Given the description of an element on the screen output the (x, y) to click on. 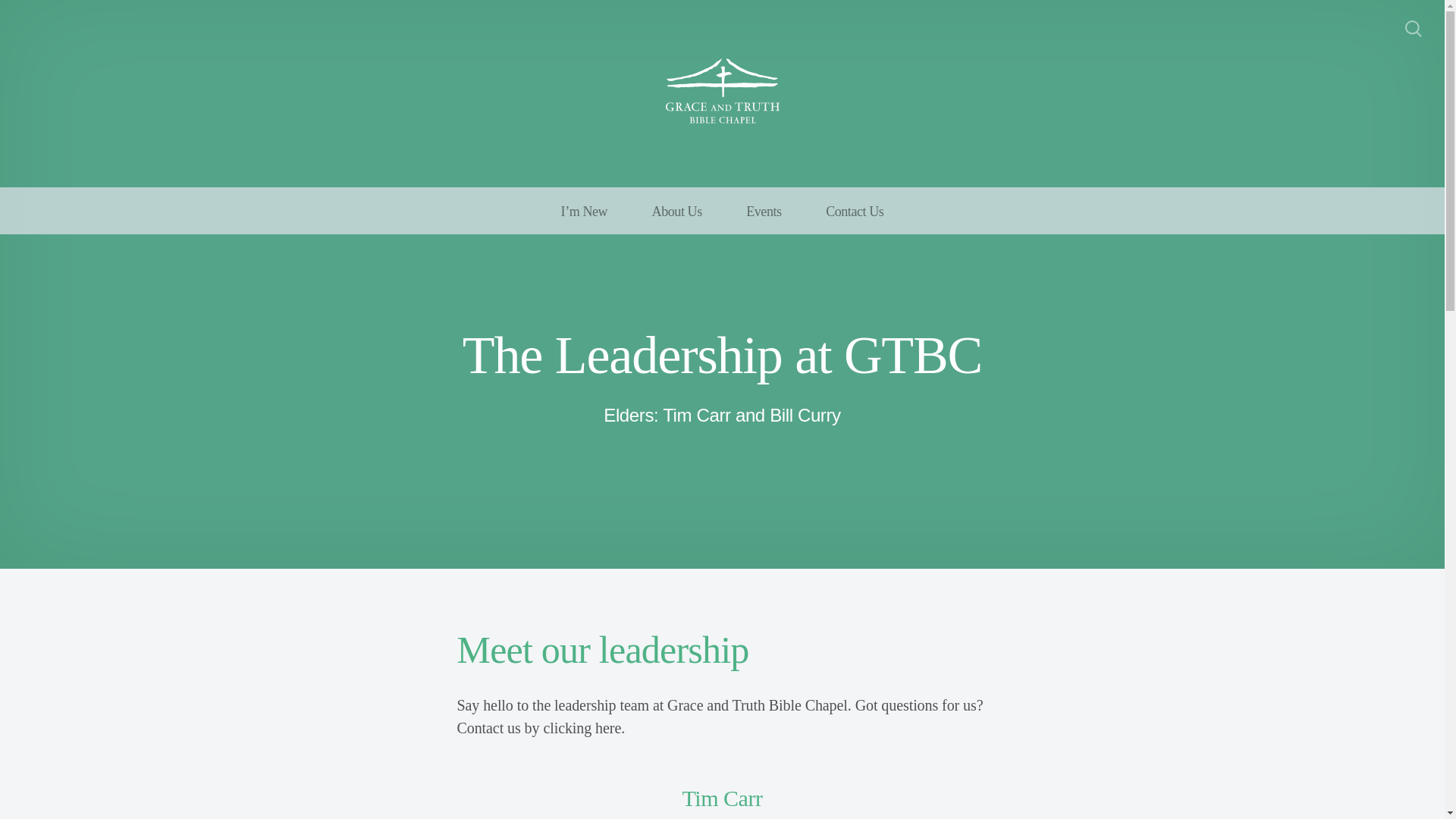
About Us (676, 210)
Events (763, 210)
Contact Us (854, 210)
